Given the description of an element on the screen output the (x, y) to click on. 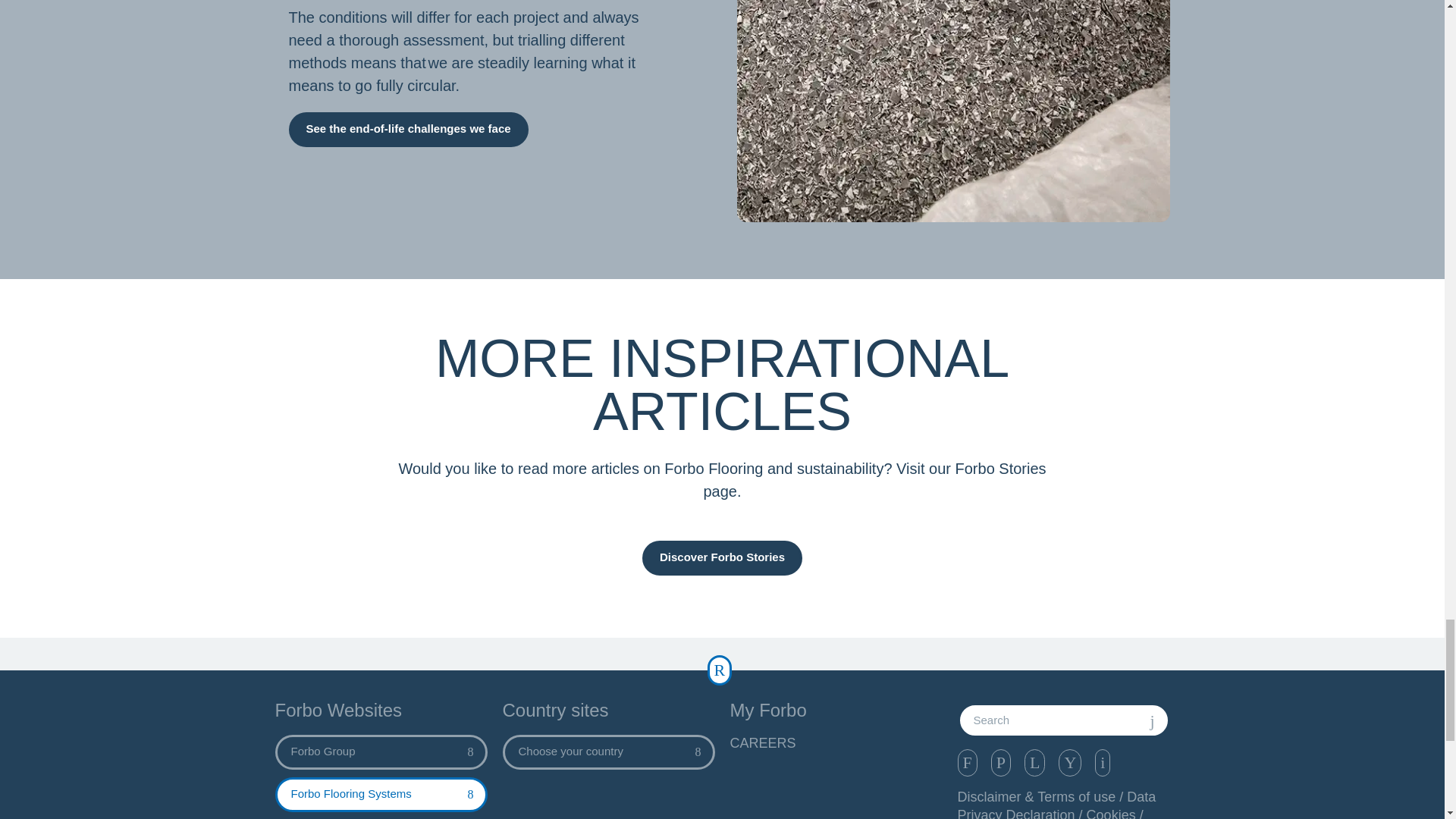
CAREERS (835, 743)
Forbo Flooring Systems (380, 794)
Discover Forbo Stories (722, 557)
See the end-of-life challenges we face (407, 129)
Choose your country (608, 751)
Forbo Group (380, 751)
